Given the description of an element on the screen output the (x, y) to click on. 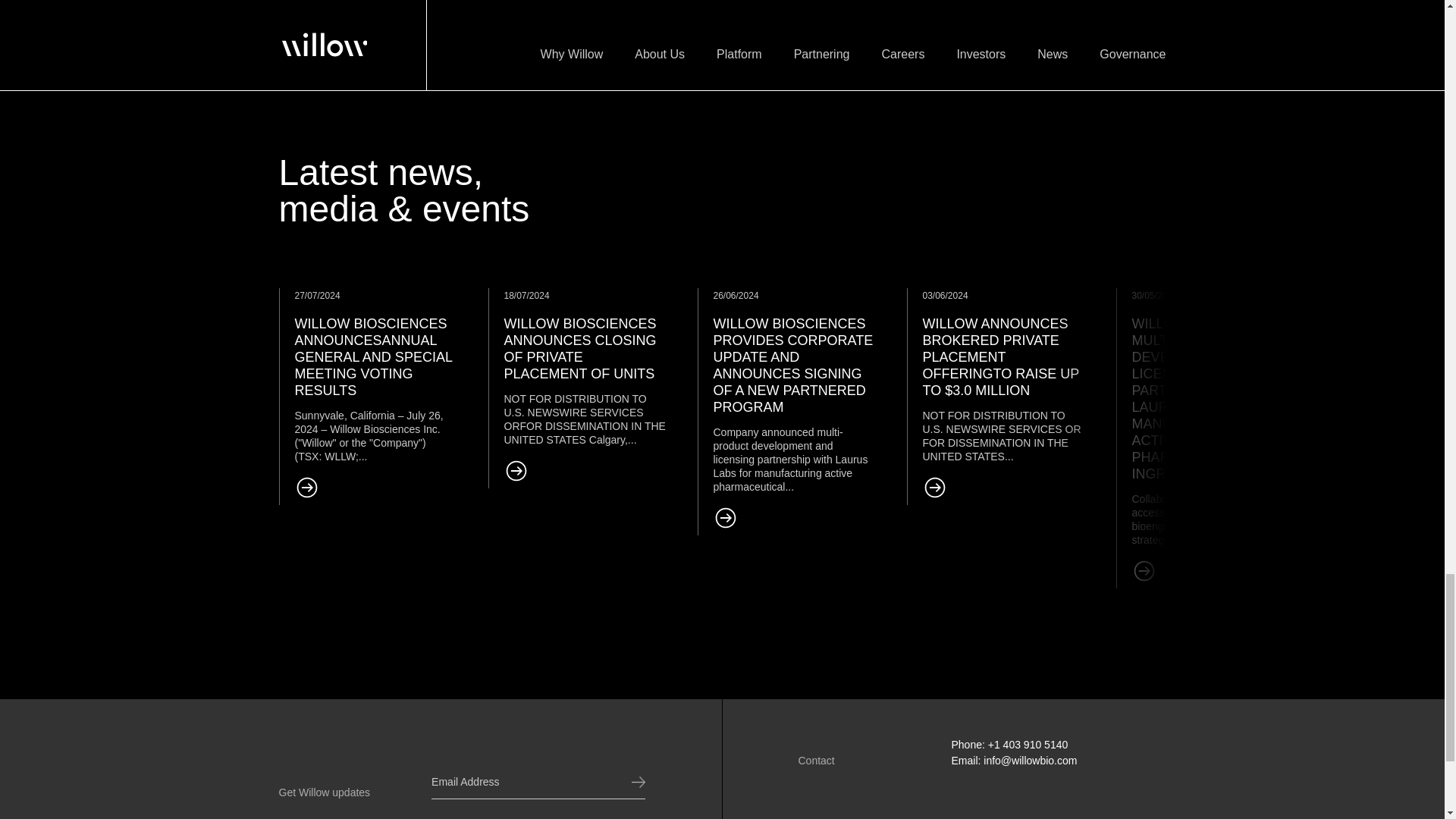
Submit (633, 782)
